Given the description of an element on the screen output the (x, y) to click on. 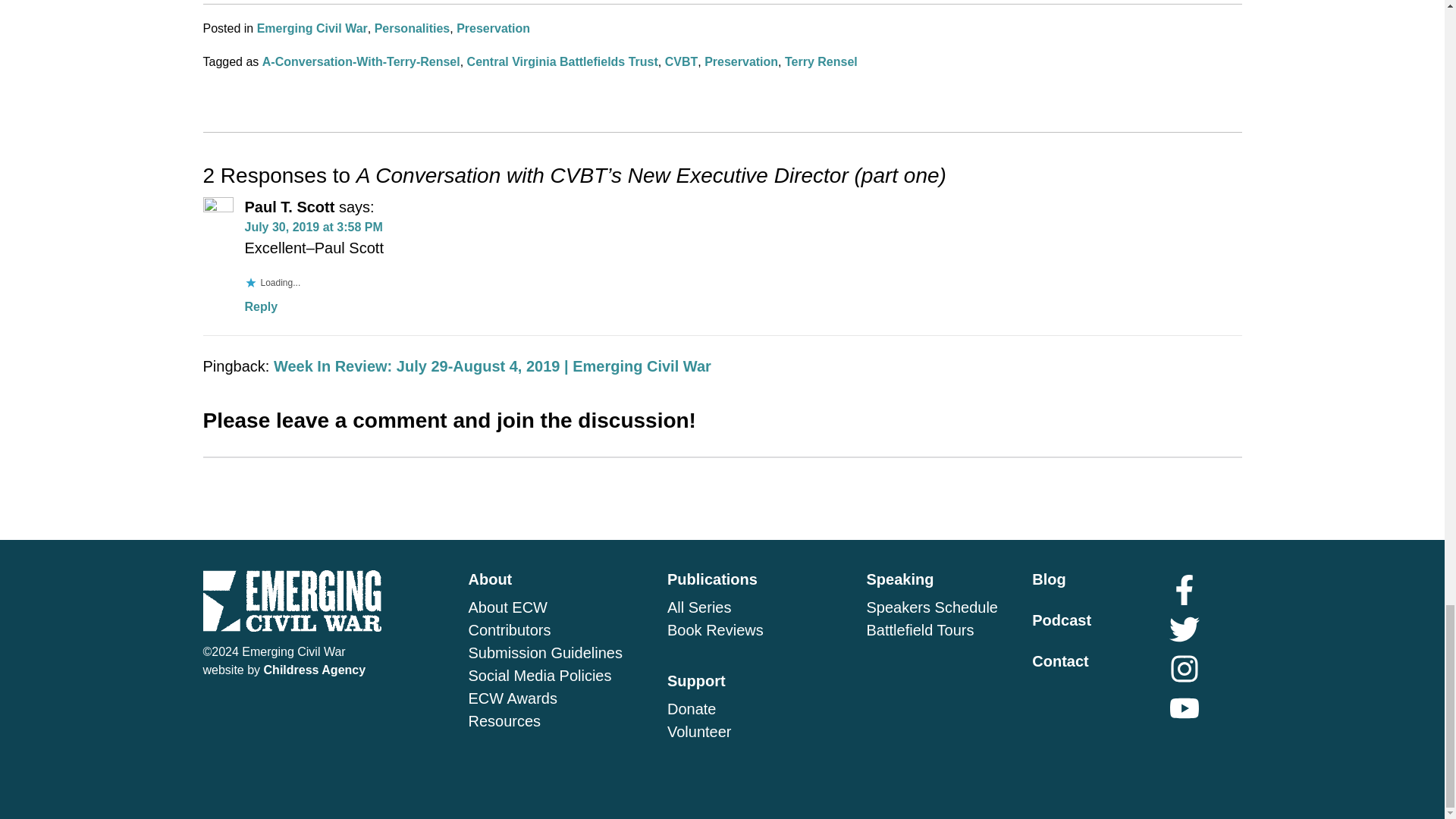
Personalities (411, 28)
Emerging Civil War (312, 28)
